Given the description of an element on the screen output the (x, y) to click on. 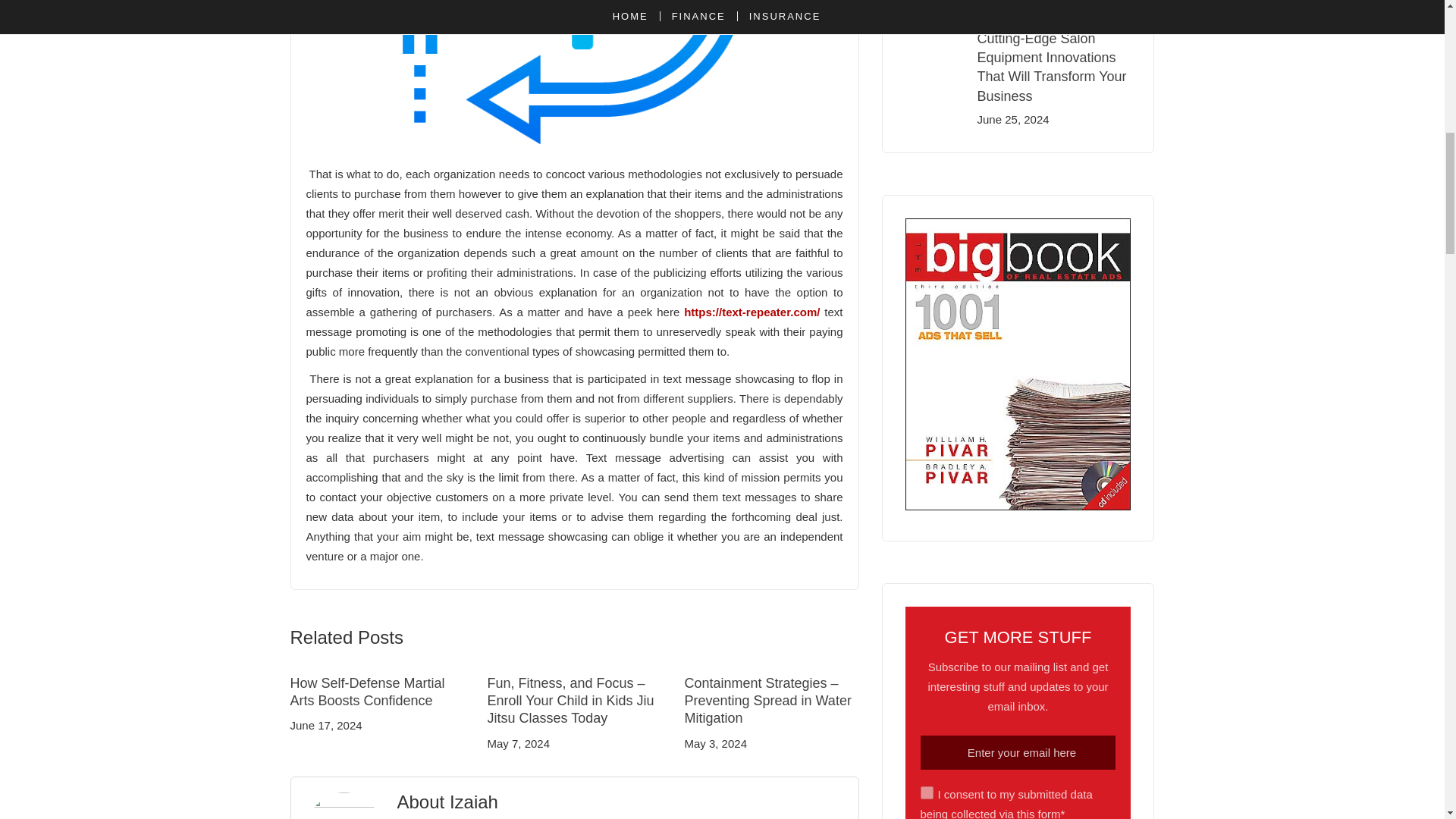
How Self-Defense Martial Arts Boosts Confidence (366, 691)
on (926, 792)
Enter your email here (1018, 752)
